Given the description of an element on the screen output the (x, y) to click on. 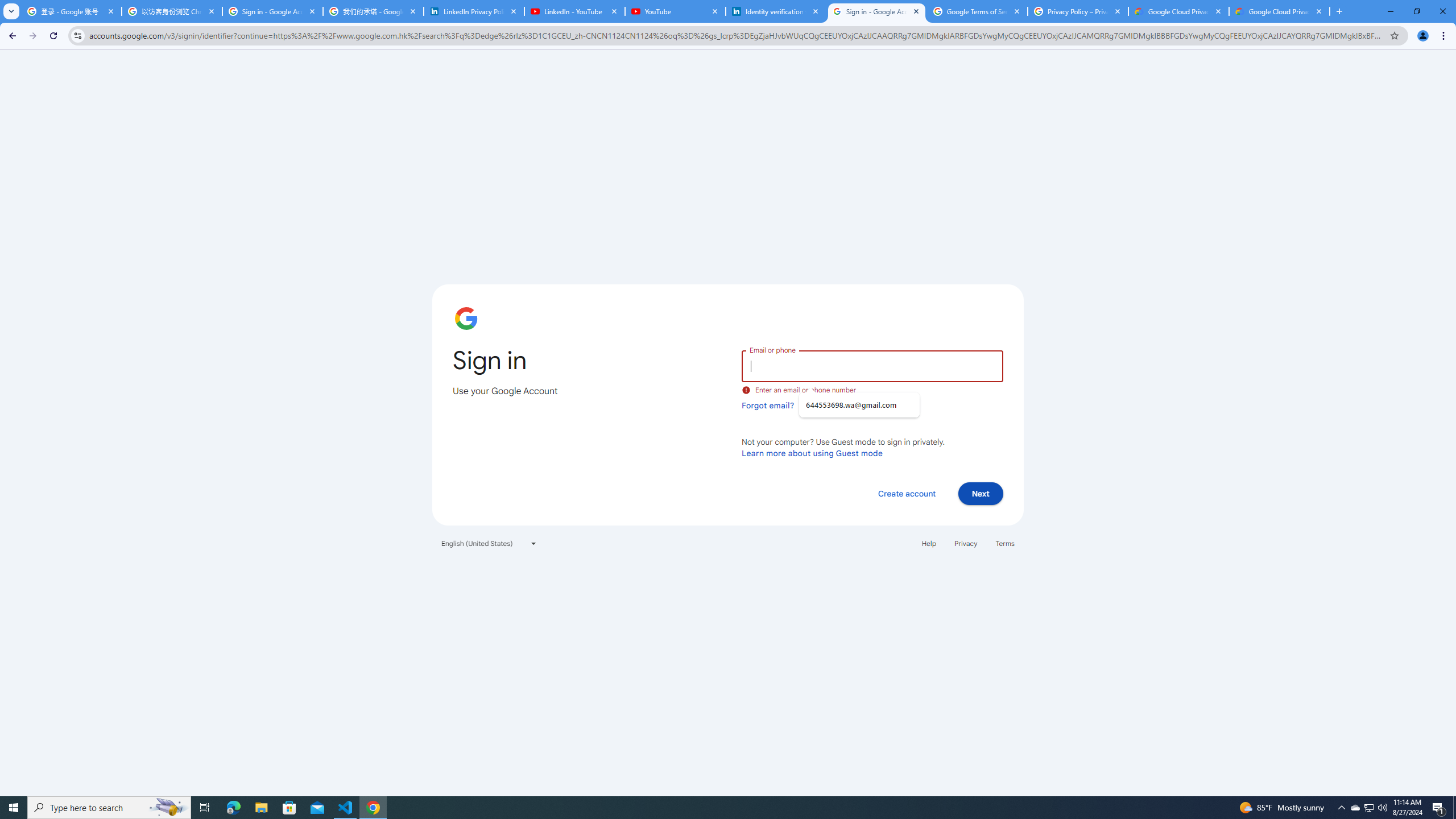
Email or phone (871, 365)
Sign in - Google Accounts (271, 11)
Learn more about using Guest mode (812, 452)
Google Cloud Privacy Notice (1178, 11)
Sign in - Google Accounts (876, 11)
LinkedIn - YouTube (574, 11)
Google Cloud Privacy Notice (1279, 11)
